Given the description of an element on the screen output the (x, y) to click on. 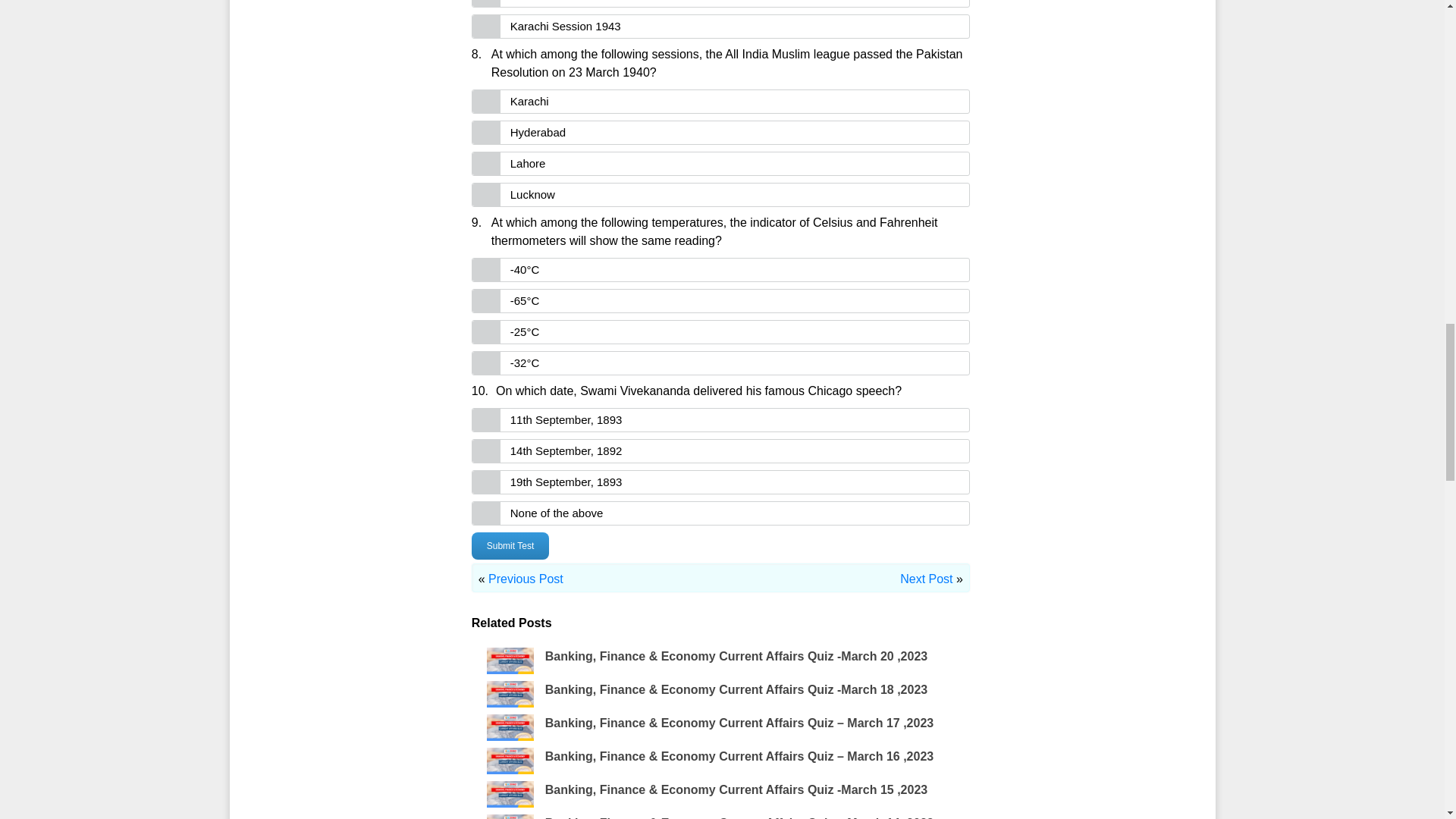
Submit Test (509, 545)
Next Post (925, 578)
Previous Post (525, 578)
